Given the description of an element on the screen output the (x, y) to click on. 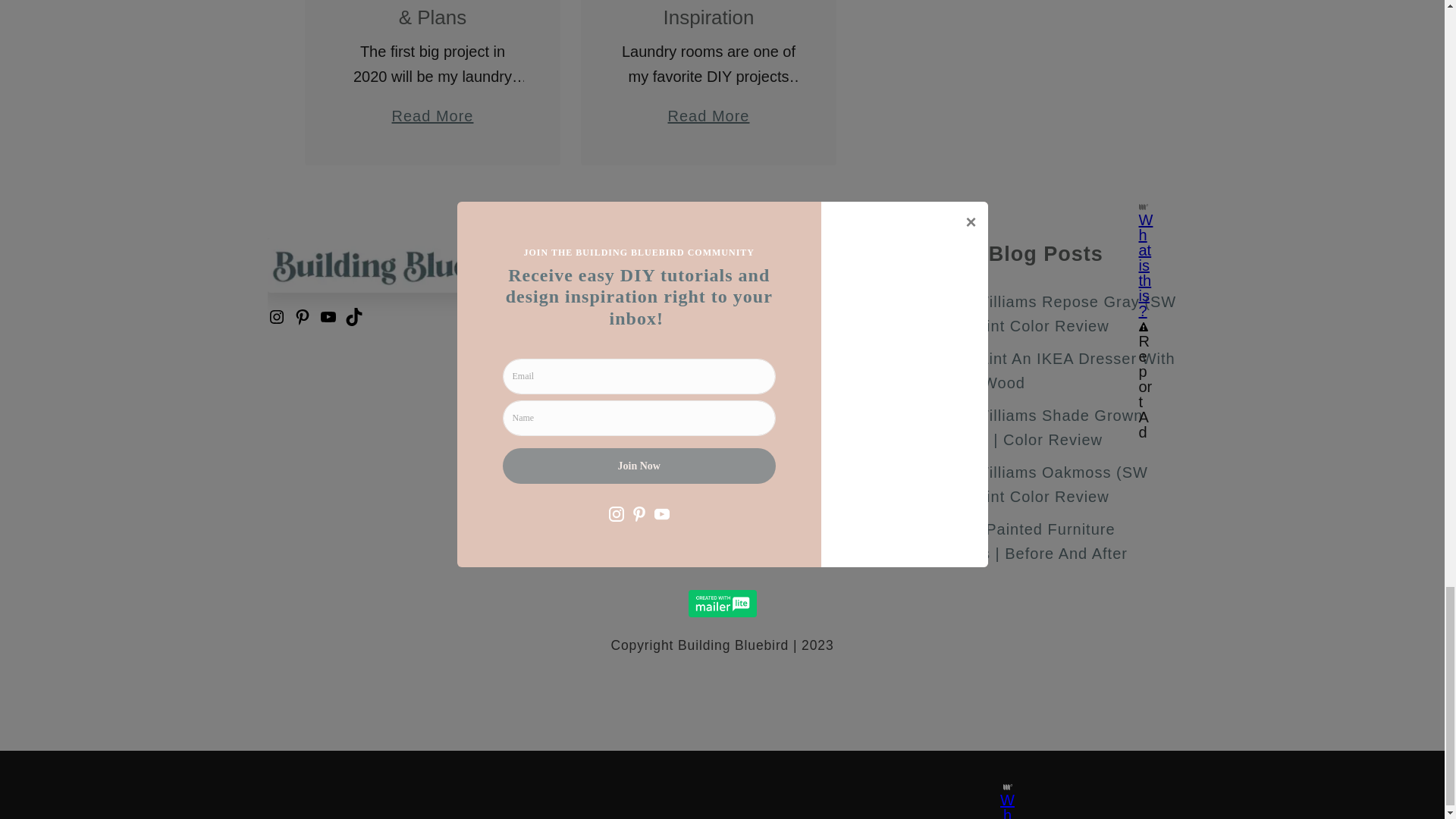
Laundry Room Design Ideas and Inspiration (707, 14)
